Given the description of an element on the screen output the (x, y) to click on. 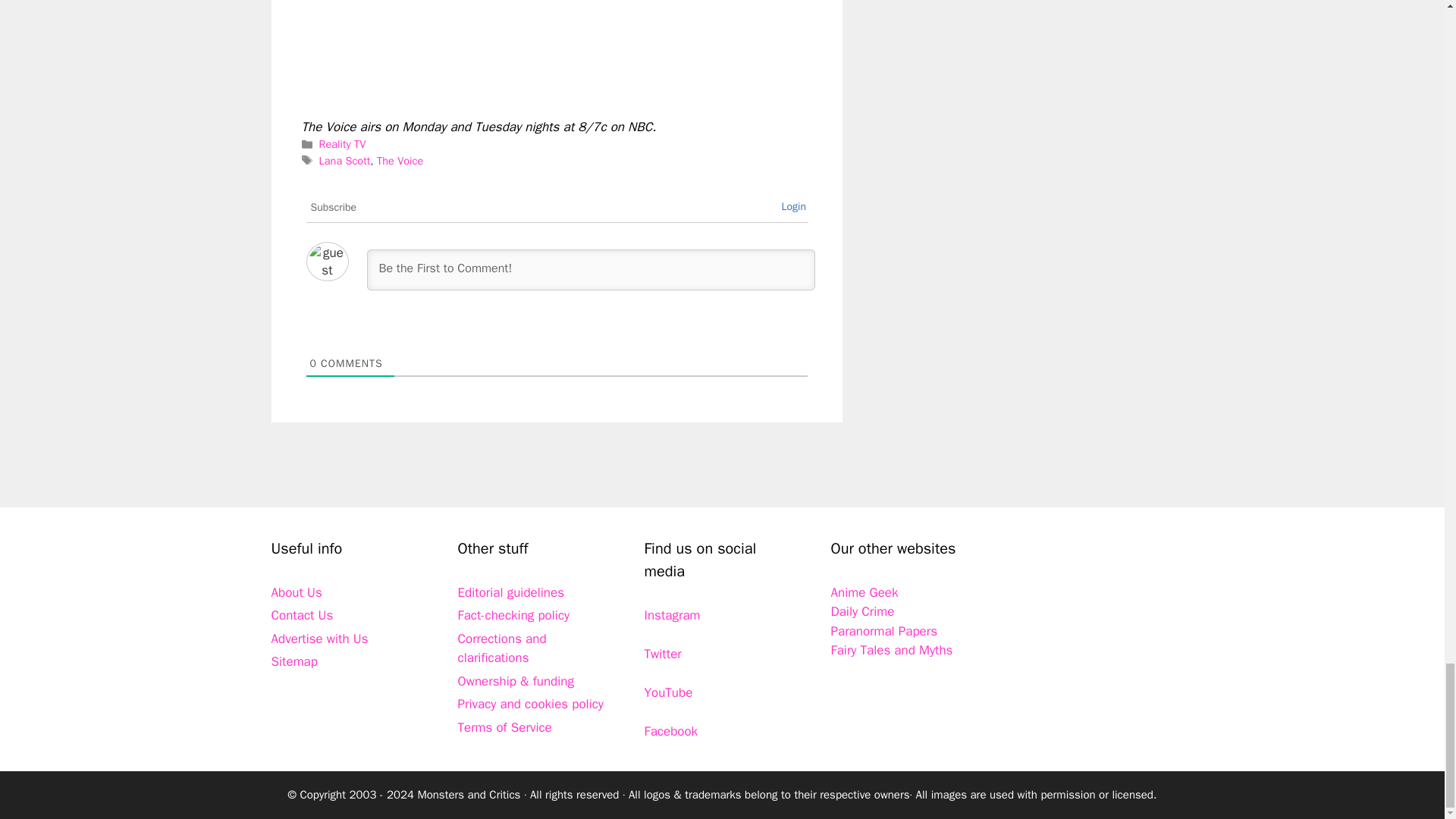
Advertise with Us (319, 638)
Instagram (672, 615)
Terms of Service (504, 727)
Reality TV (342, 143)
The Voice (400, 160)
Editorial guidelines (511, 592)
Sitemap (293, 661)
Corrections and clarifications (502, 648)
Fact-checking policy (514, 615)
Login (793, 205)
